Given the description of an element on the screen output the (x, y) to click on. 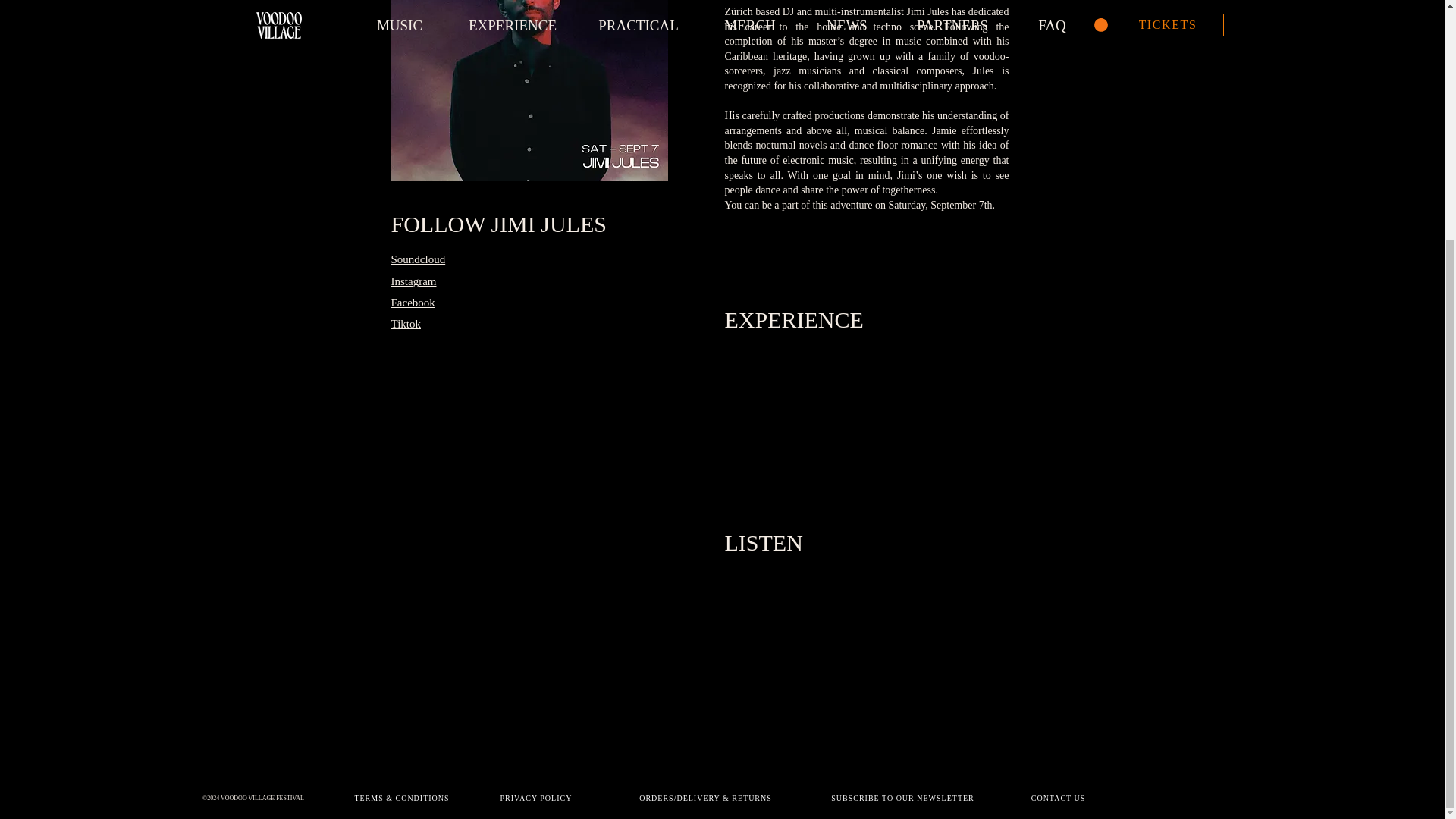
CONTACT US (1059, 797)
Facebook (413, 302)
SUBSCRIBE TO OUR NEWSLETTER (904, 797)
Tiktok (405, 323)
Instagram (413, 281)
PRIVACY POLICY (537, 797)
Soundcloud (418, 259)
